Given the description of an element on the screen output the (x, y) to click on. 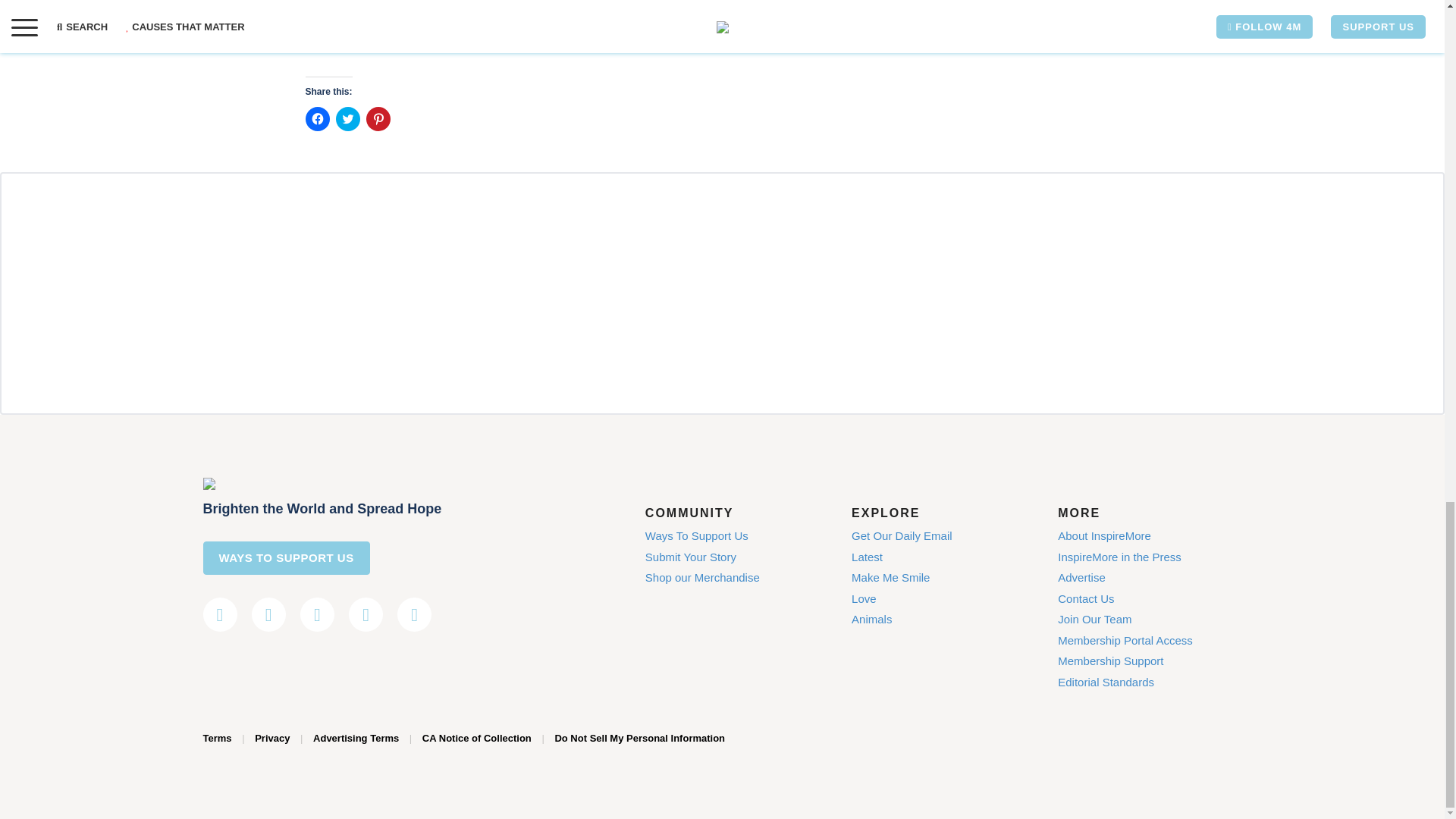
WAYS TO SUPPORT US (286, 558)
toddlersoftiktok (419, 2)
Click to share on Twitter (346, 119)
Click to share on Facebook (316, 119)
NeverStopExploring (548, 2)
Click to share on Pinterest (377, 119)
